Given the description of an element on the screen output the (x, y) to click on. 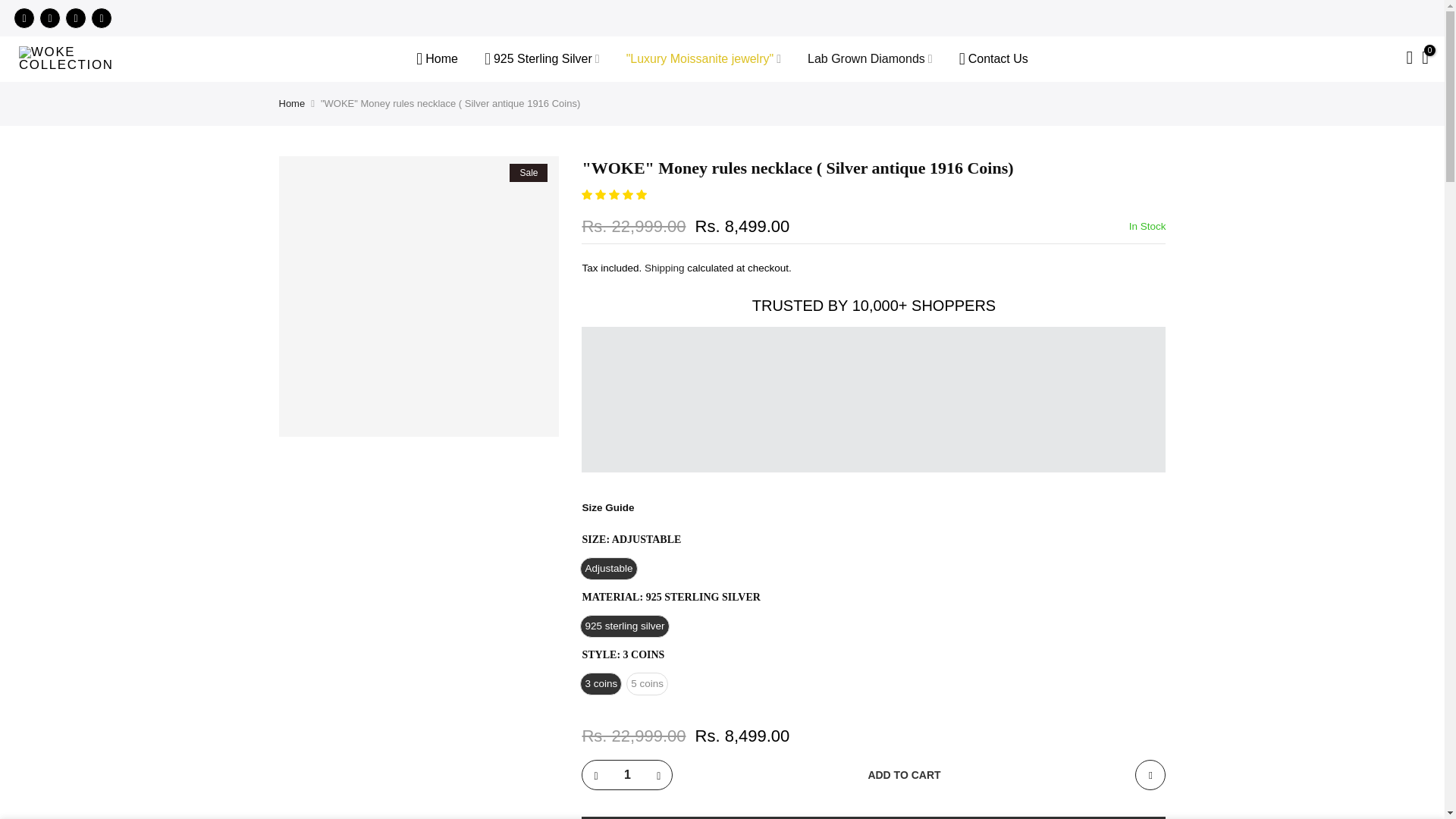
Home (437, 58)
925 Sterling Silver (541, 58)
"Luxury Moissanite jewelry" (702, 58)
1 (627, 774)
